Given the description of an element on the screen output the (x, y) to click on. 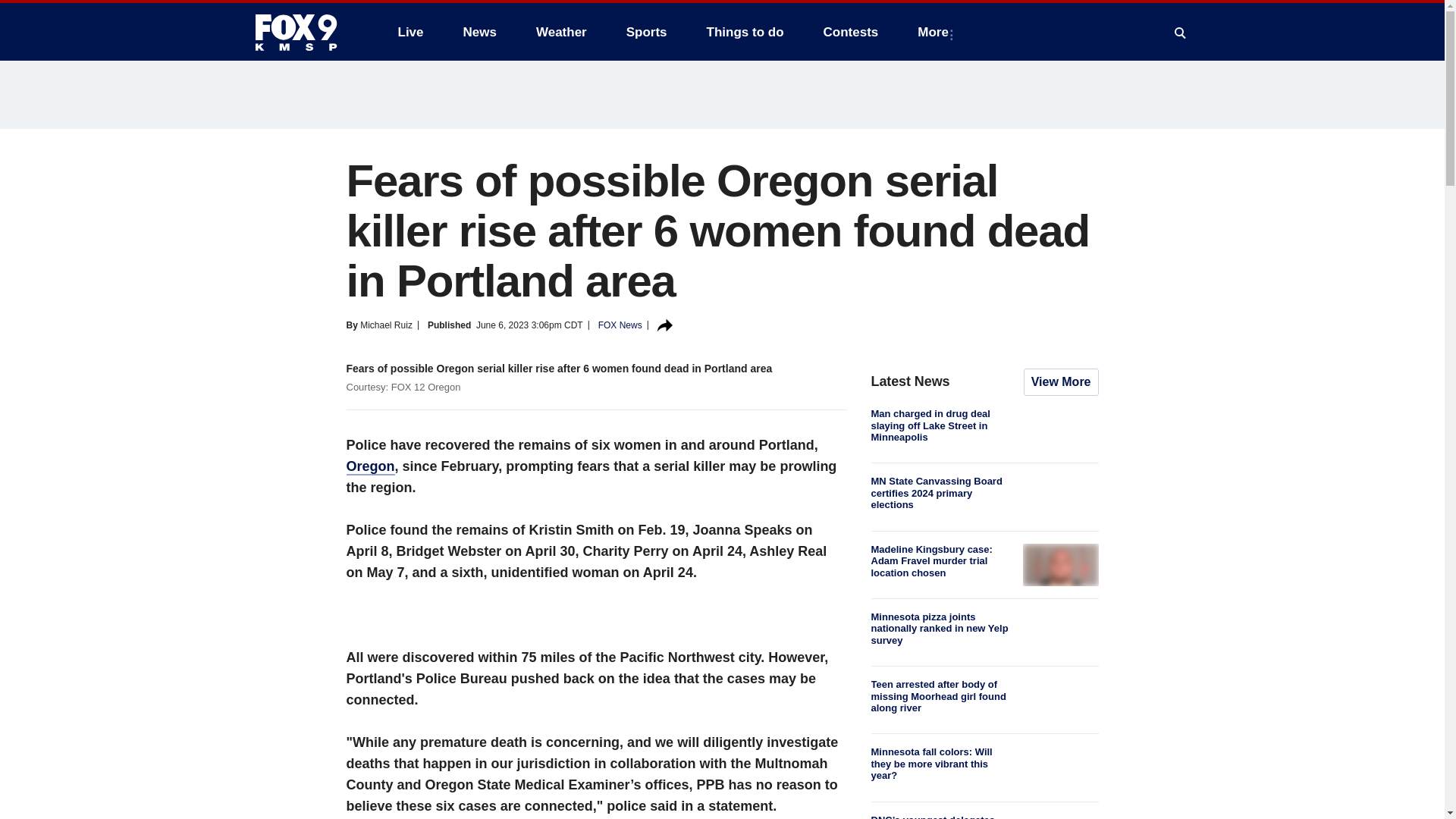
Contests (850, 32)
More (935, 32)
Sports (646, 32)
News (479, 32)
Things to do (745, 32)
Live (410, 32)
Weather (561, 32)
